Given the description of an element on the screen output the (x, y) to click on. 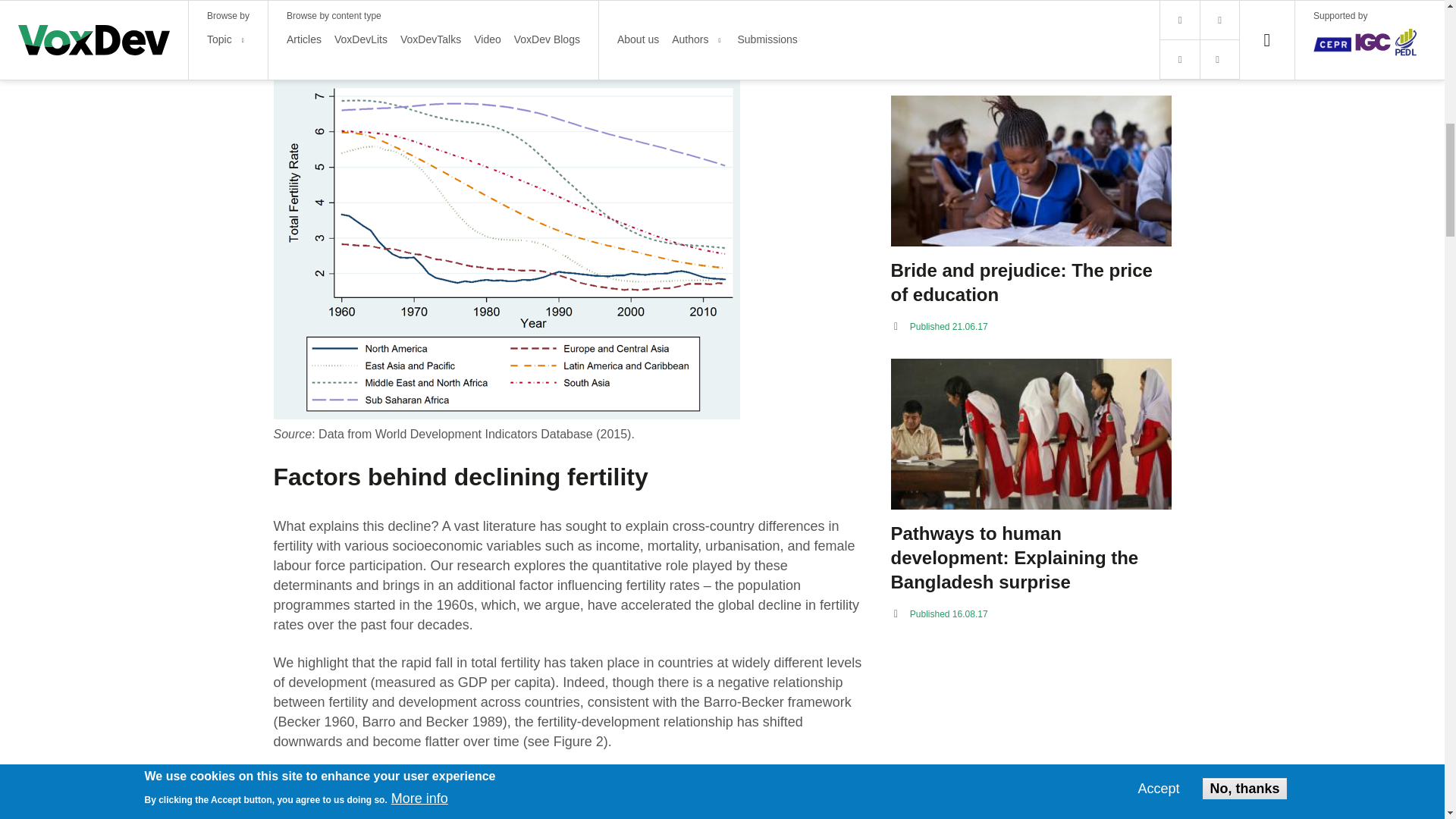
Bride and prejudice: The price of education (1029, 282)
Bride and prejudice: The price of education (1029, 170)
